Given the description of an element on the screen output the (x, y) to click on. 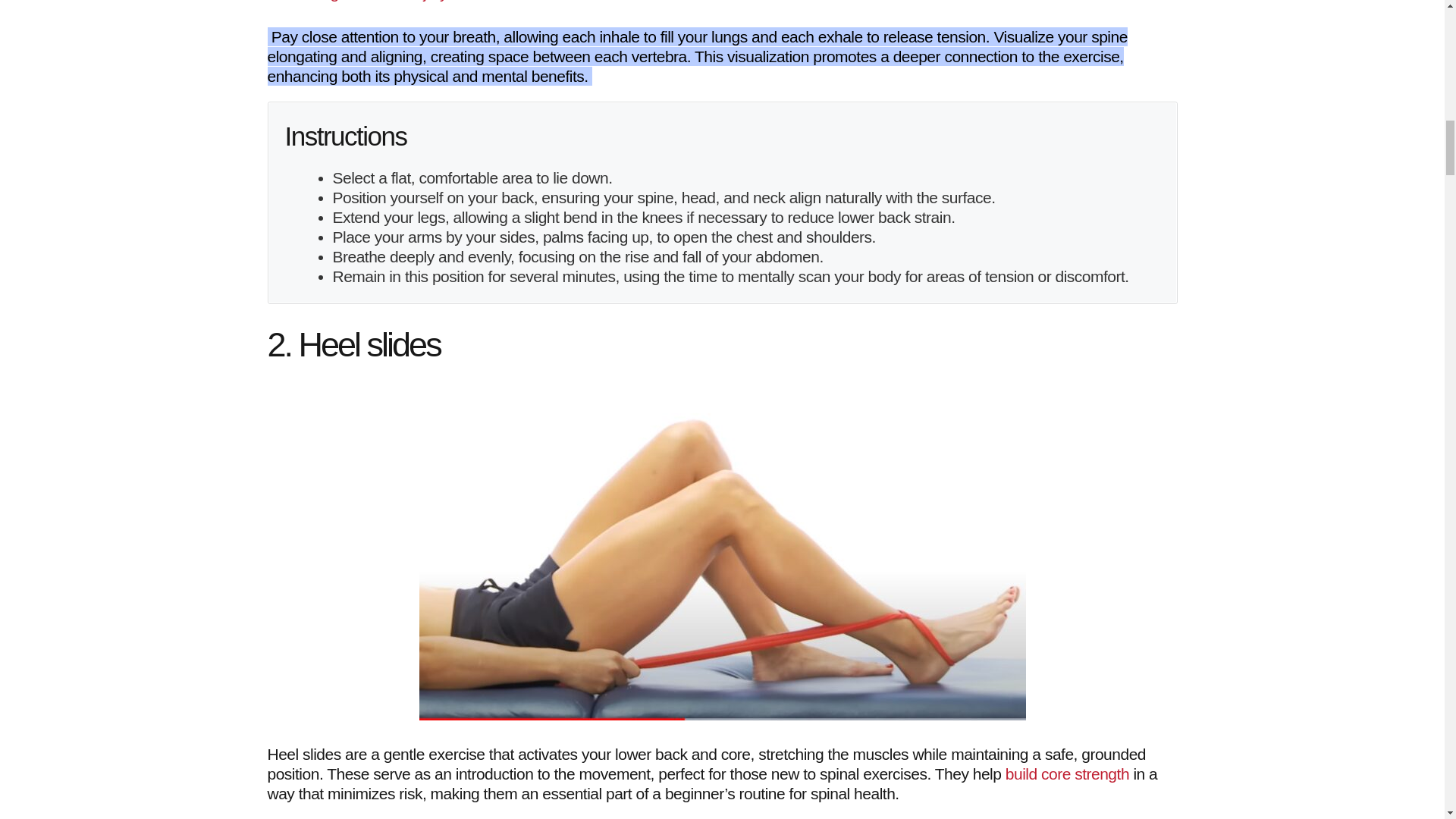
build core strength (1067, 773)
